Given the description of an element on the screen output the (x, y) to click on. 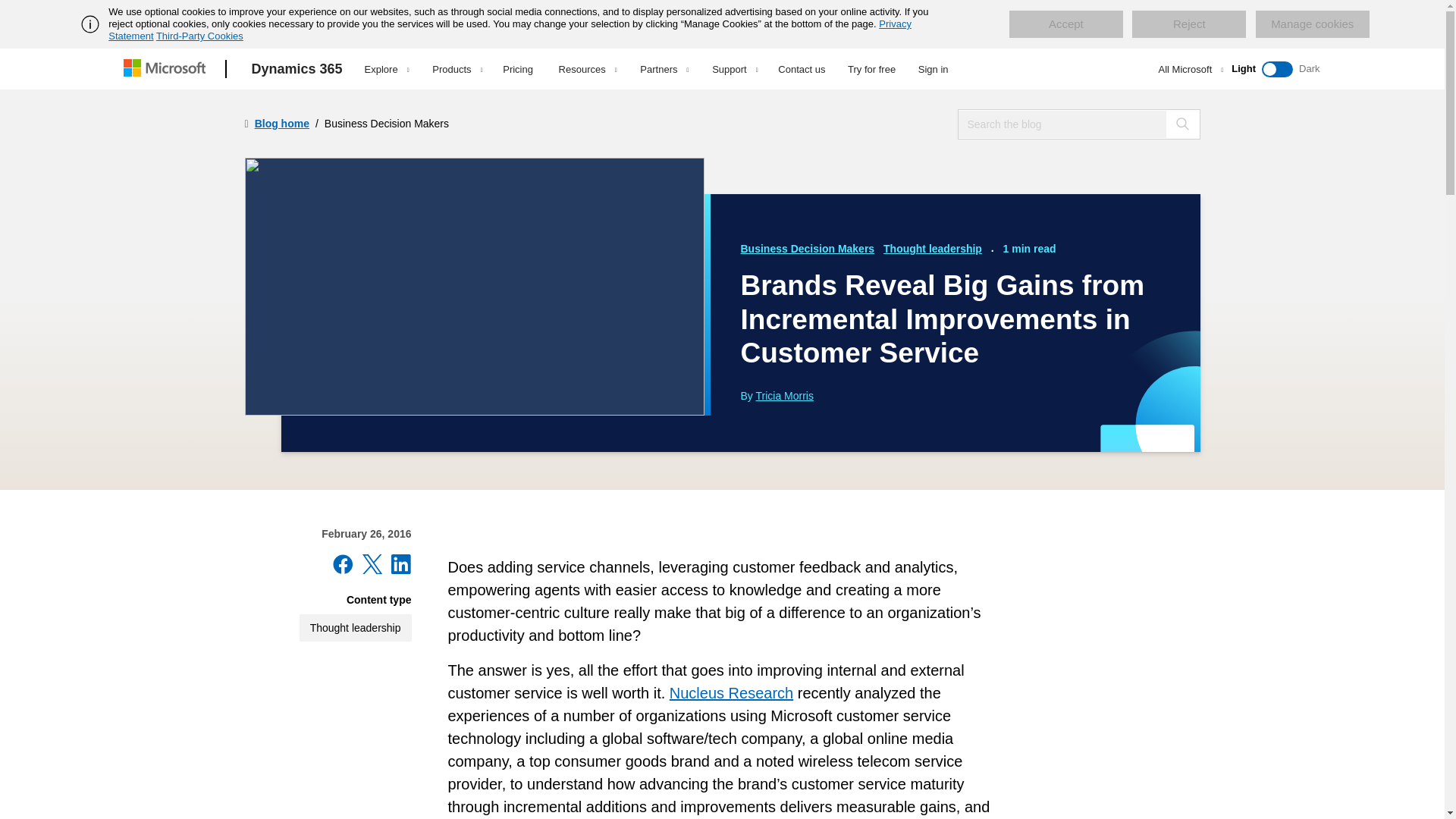
Explore (387, 69)
Third-Party Cookies (199, 35)
Dynamics 365 (297, 69)
Products (457, 69)
Microsoft (167, 69)
Reject (1189, 23)
Accept (1065, 23)
Manage cookies (1312, 23)
Privacy Statement (509, 29)
